Given the description of an element on the screen output the (x, y) to click on. 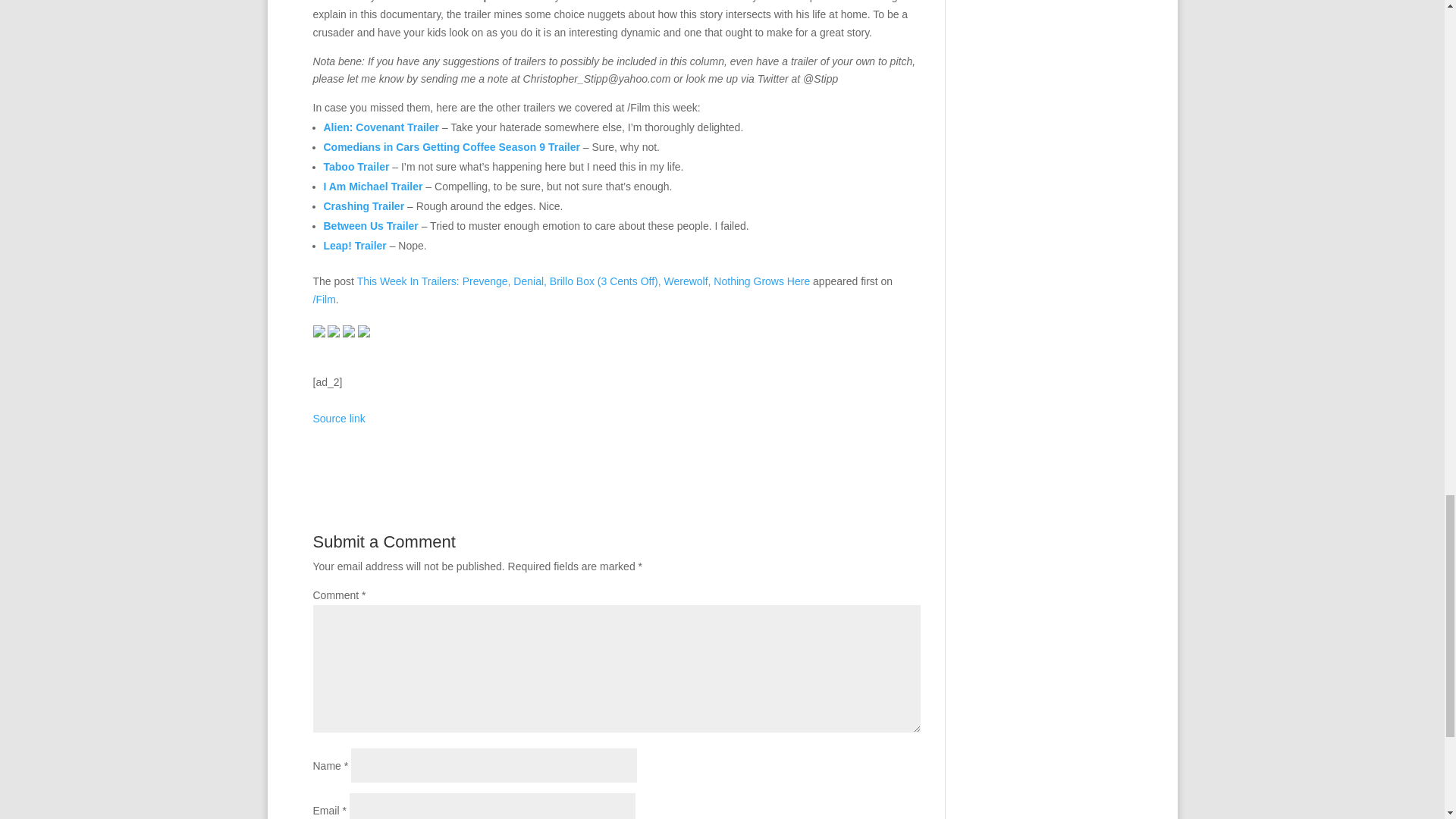
Crashing Trailer (363, 205)
I Am Michael Trailer (372, 186)
Comedians in Cars Getting Coffee Season 9 Trailer (451, 146)
Alien: Covenant Trailer (380, 127)
Between Us Trailer (370, 225)
Source link (339, 418)
Leap! Trailer (354, 245)
Taboo Trailer (355, 166)
